Given the description of an element on the screen output the (x, y) to click on. 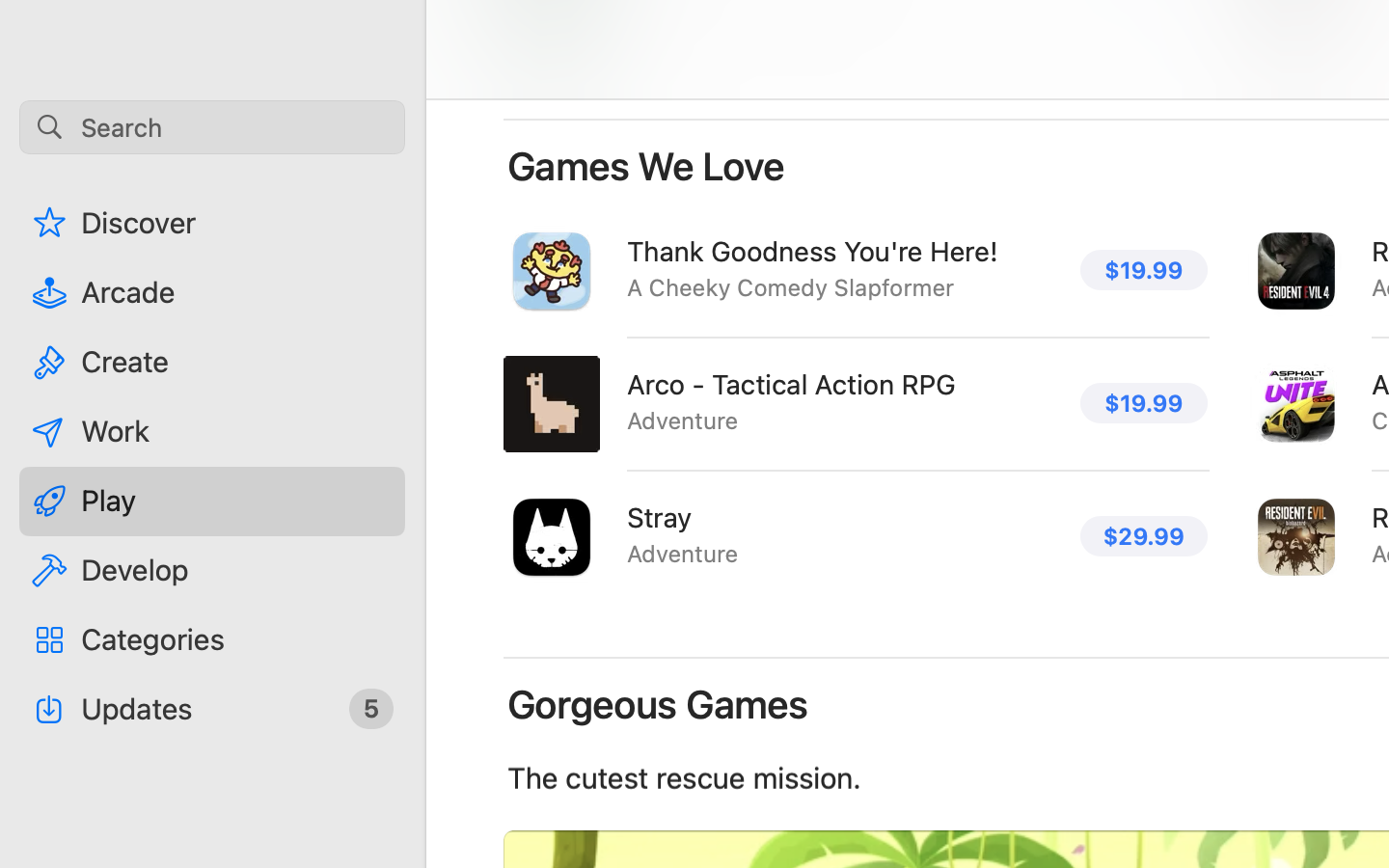
Gorgeous Games Element type: AXStaticText (657, 703)
Games We Love Element type: AXStaticText (646, 165)
